Given the description of an element on the screen output the (x, y) to click on. 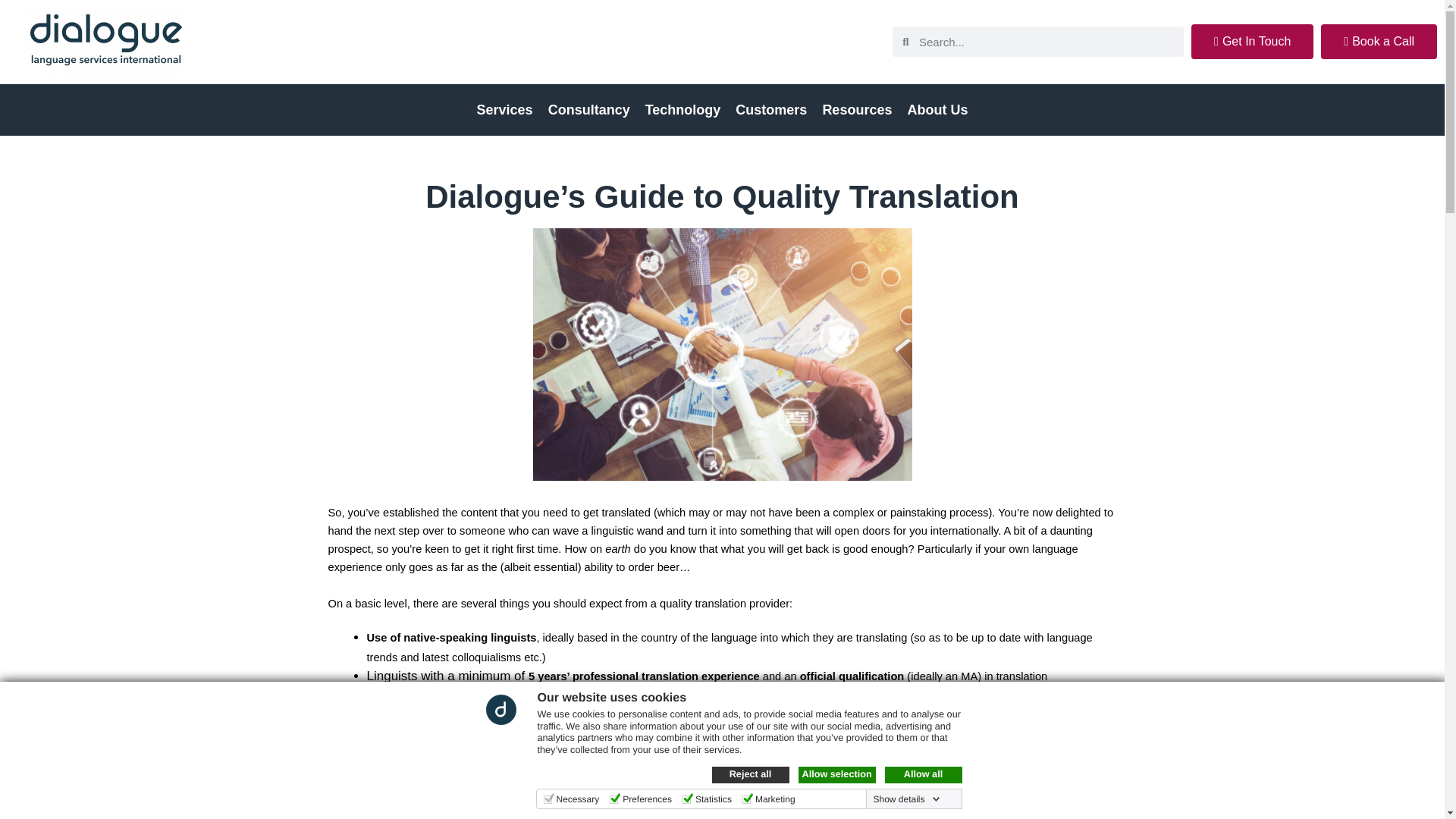
Show details (905, 799)
Reject all (750, 774)
Allow all (921, 774)
Allow selection (836, 774)
